Given the description of an element on the screen output the (x, y) to click on. 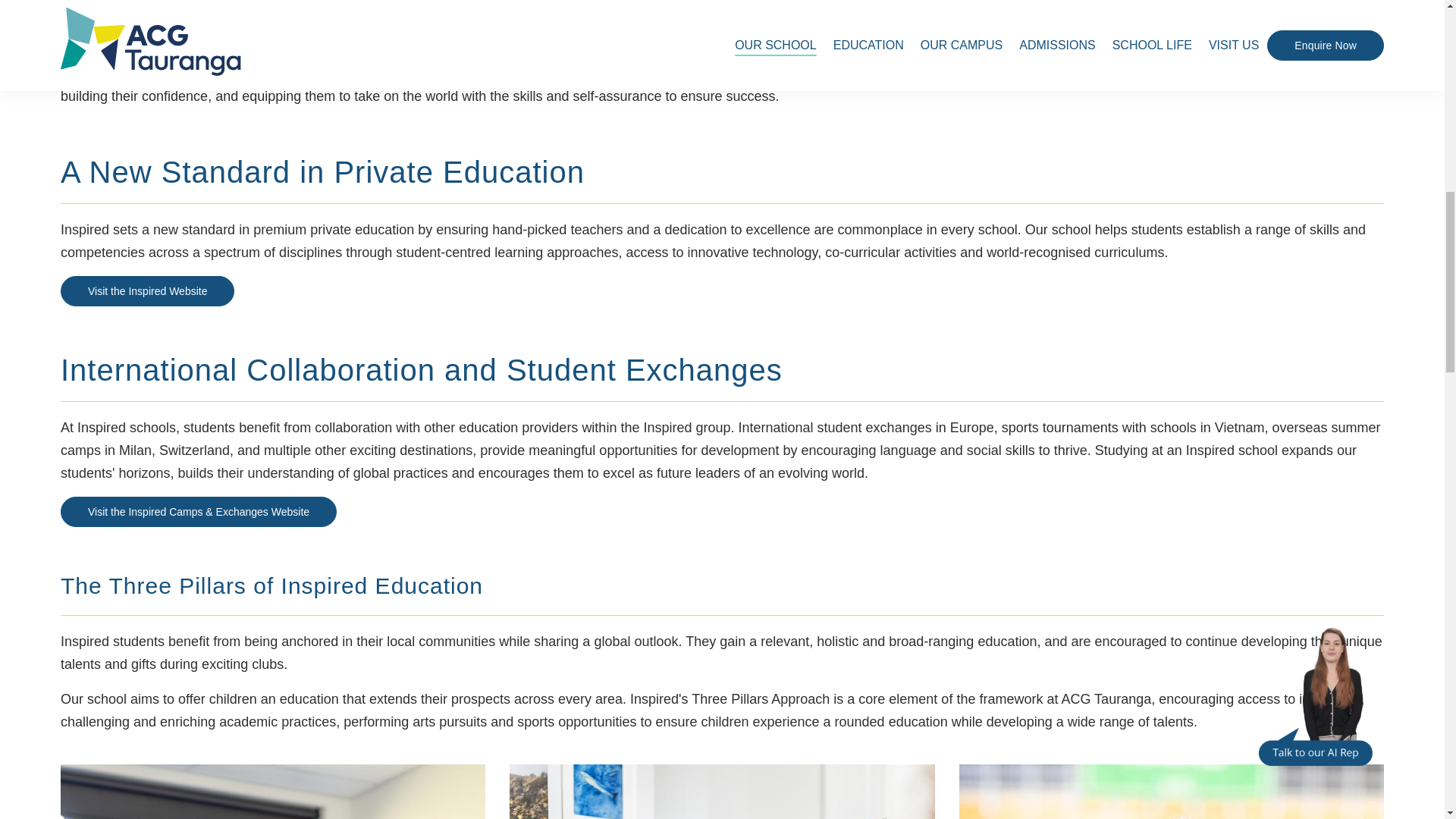
boy-arts (721, 791)
girls-working-academics (272, 791)
girl-hockey (1171, 791)
